Given the description of an element on the screen output the (x, y) to click on. 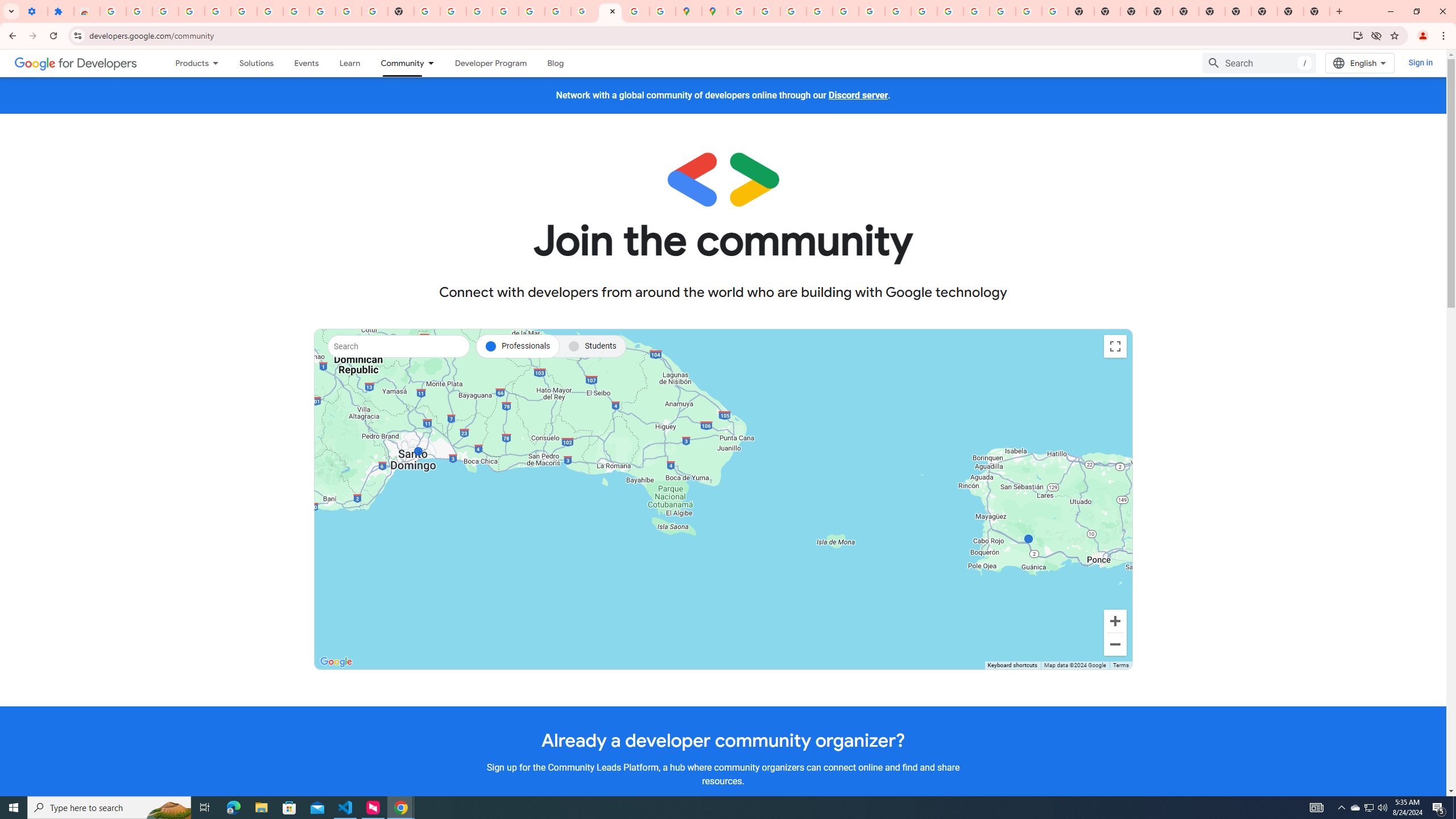
Sign in - Google Accounts (269, 11)
Products (186, 62)
